Given the description of an element on the screen output the (x, y) to click on. 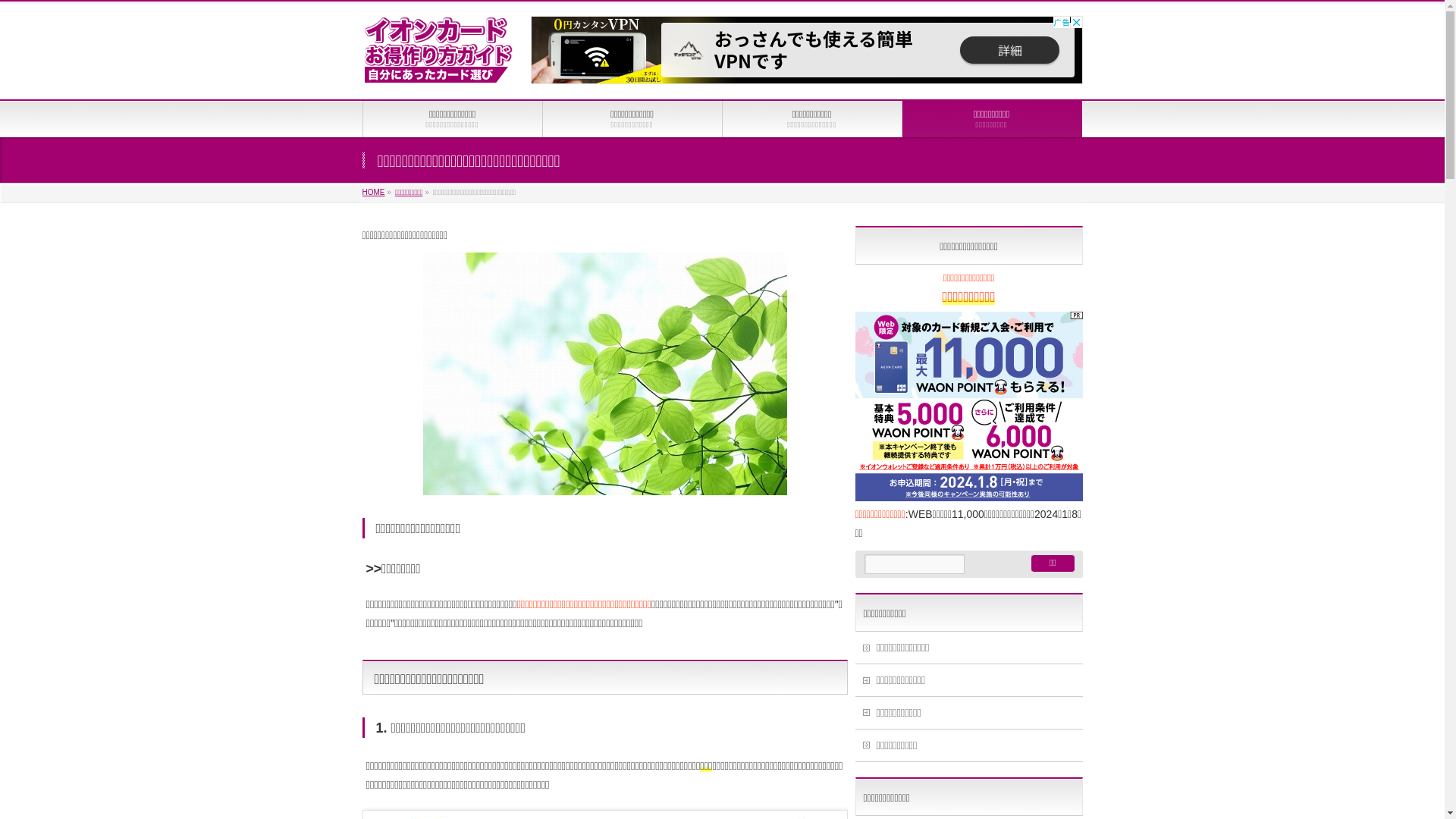
Advertisement Element type: hover (806, 49)
HOME Element type: text (373, 192)
